Given the description of an element on the screen output the (x, y) to click on. 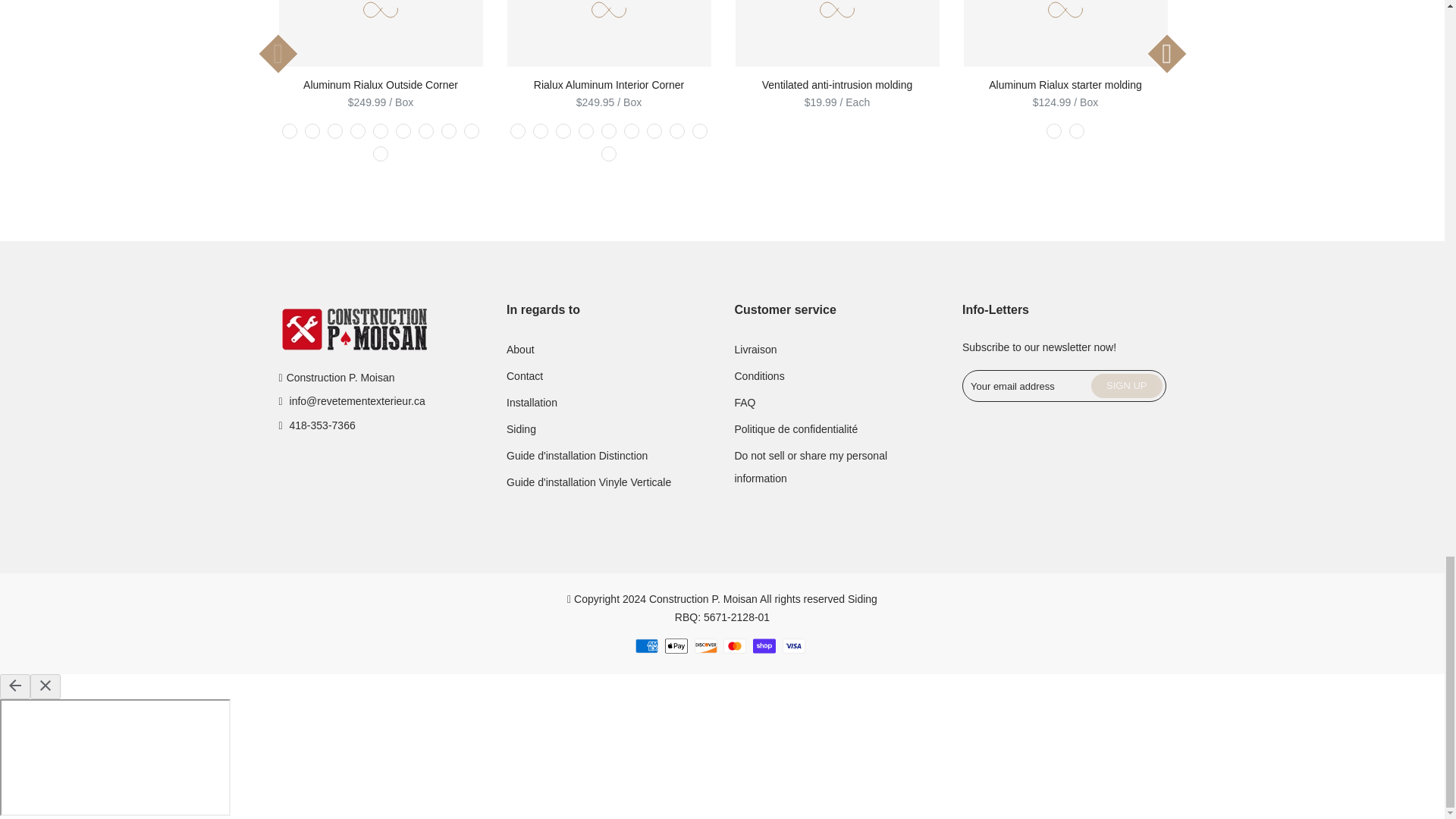
American Express (646, 645)
Discover (705, 645)
Sign up (1125, 385)
Apple Pay (676, 645)
Mastercard (734, 645)
Shop Pay (764, 645)
Visa (794, 645)
